Given the description of an element on the screen output the (x, y) to click on. 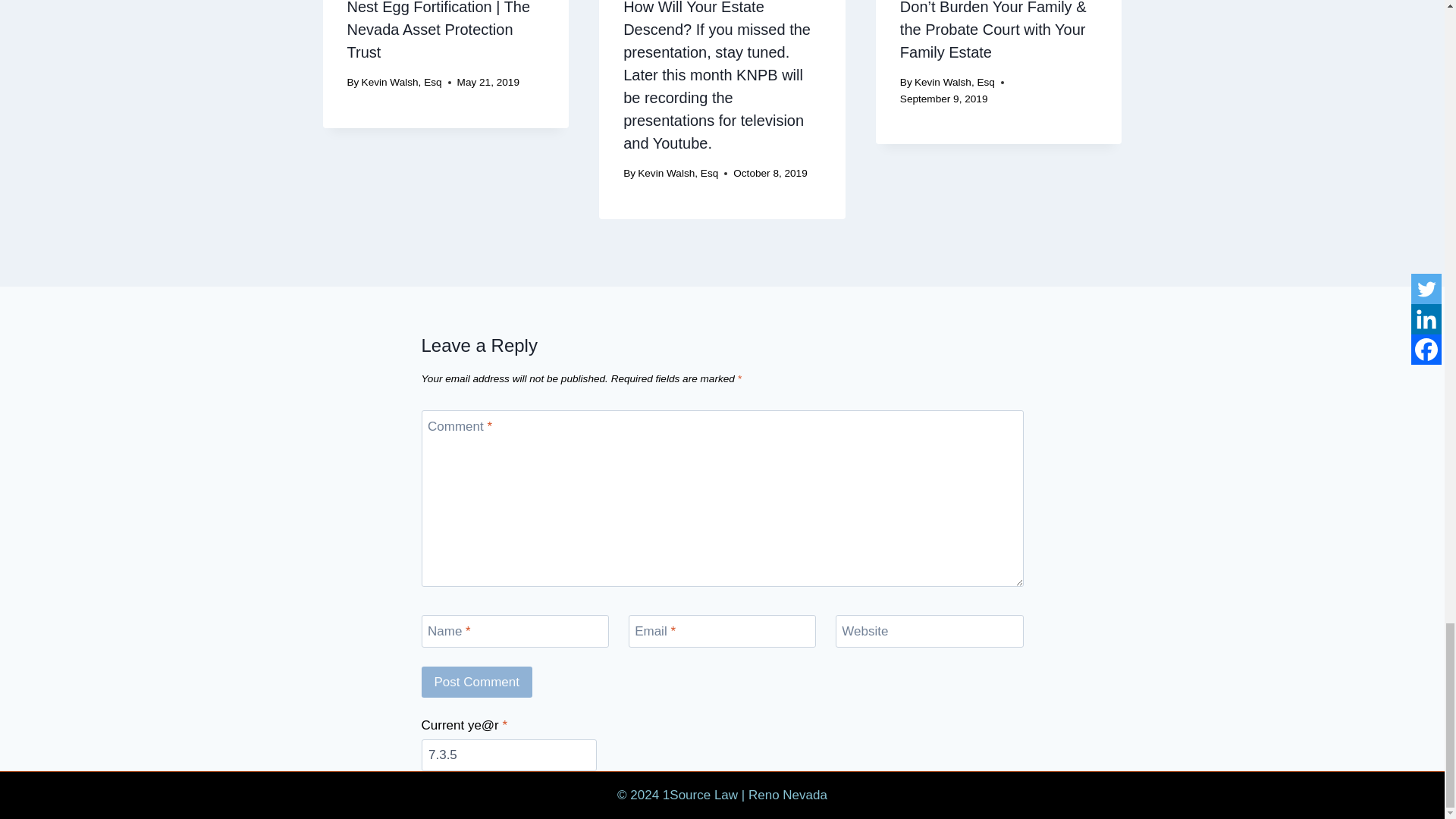
Post Comment (477, 681)
7.3.5 (509, 755)
